Given the description of an element on the screen output the (x, y) to click on. 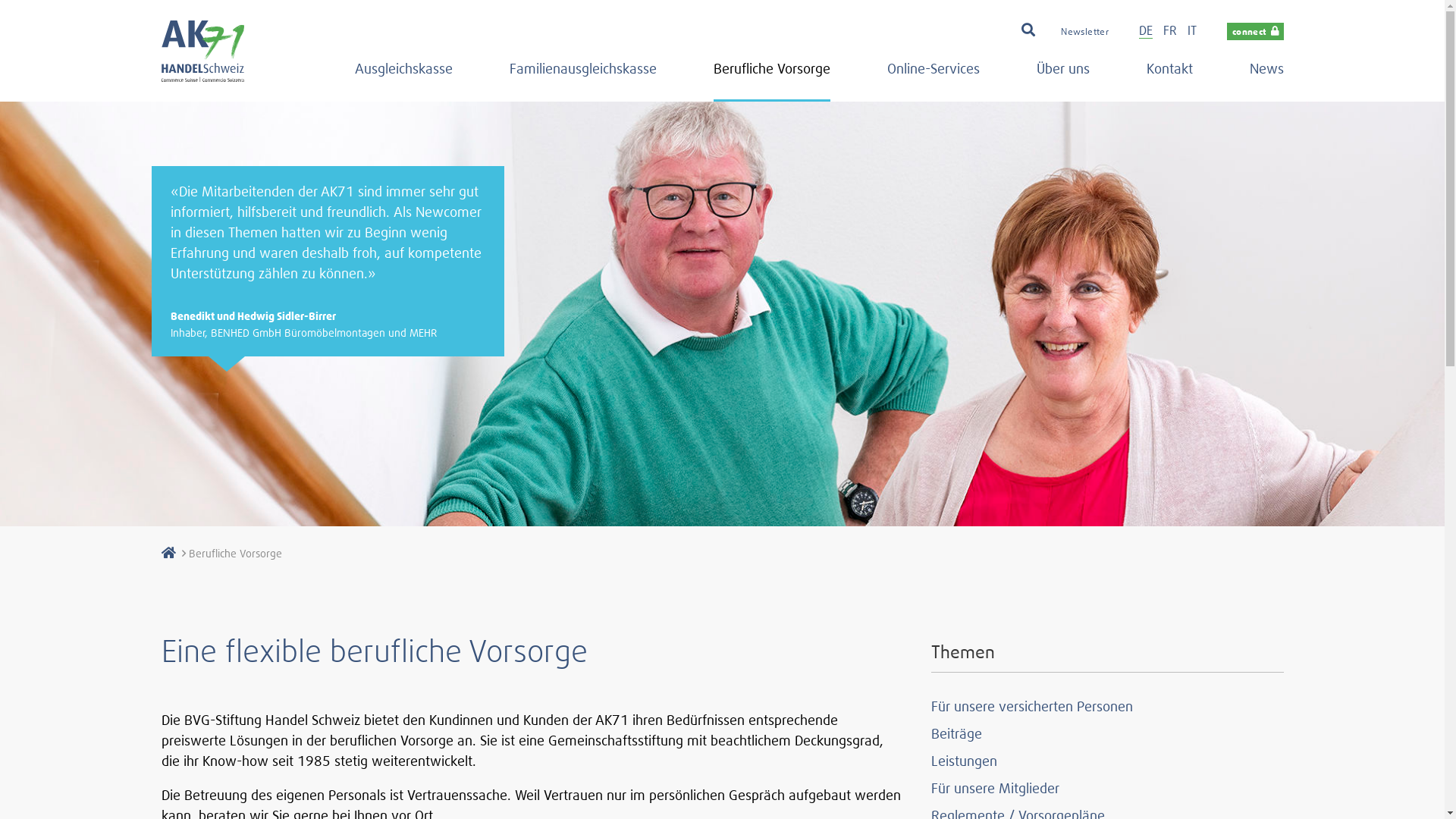
News Element type: text (1266, 75)
Newsletter Element type: text (1084, 31)
DE Element type: text (1145, 30)
Leistungen Element type: text (964, 760)
FR Element type: text (1169, 30)
Berufliche Vorsorge Element type: text (770, 75)
connect Element type: text (1254, 31)
IT Element type: text (1191, 30)
Online-Services Element type: text (933, 75)
Familienausgleichskasse Element type: text (582, 75)
Kontakt Element type: text (1169, 75)
Ausgleichskasse Element type: text (403, 75)
